Given the description of an element on the screen output the (x, y) to click on. 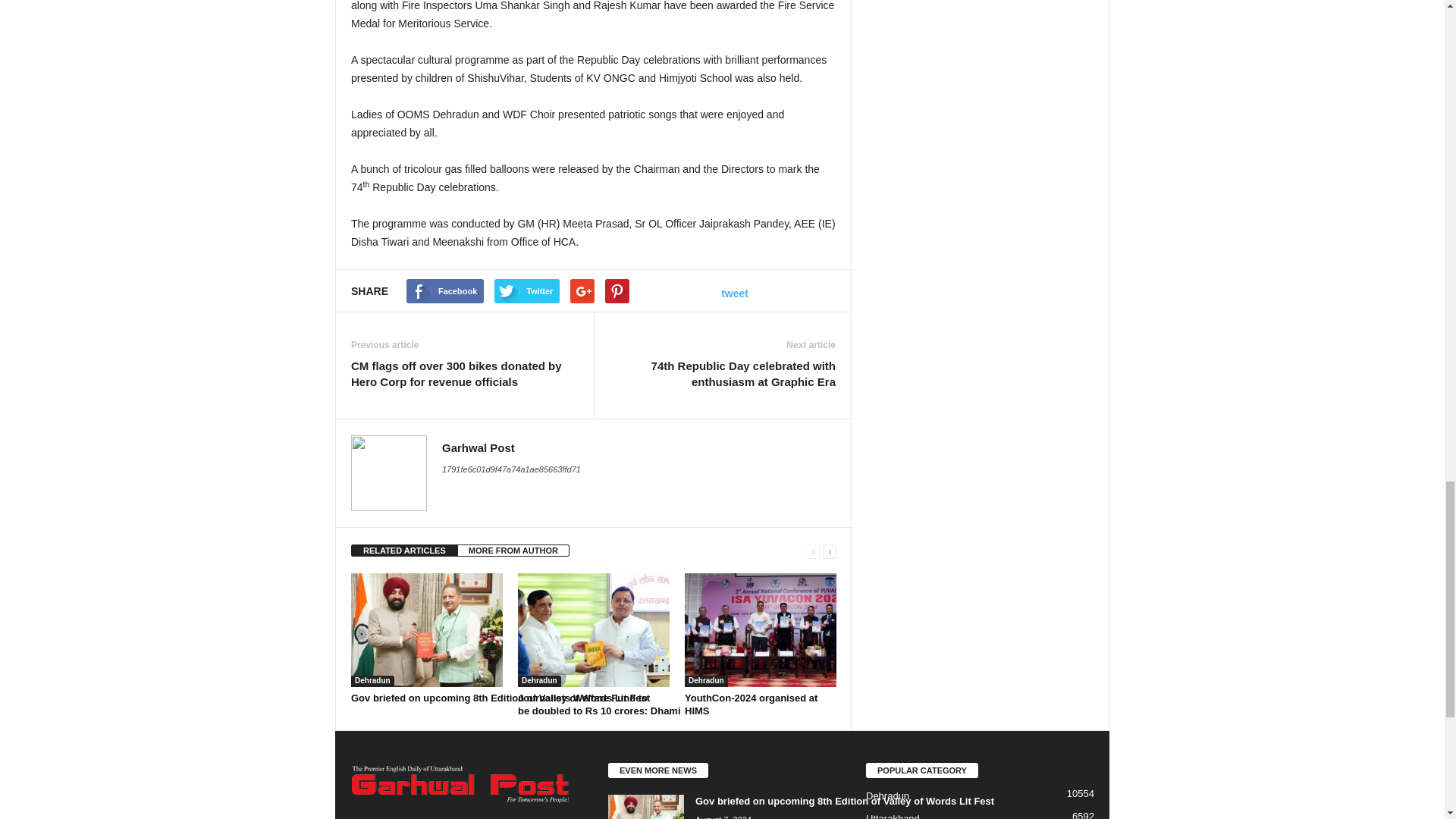
YouthCon-2024 organised at HIMS (750, 704)
YouthCon-2024 organised at HIMS (759, 630)
